Given the description of an element on the screen output the (x, y) to click on. 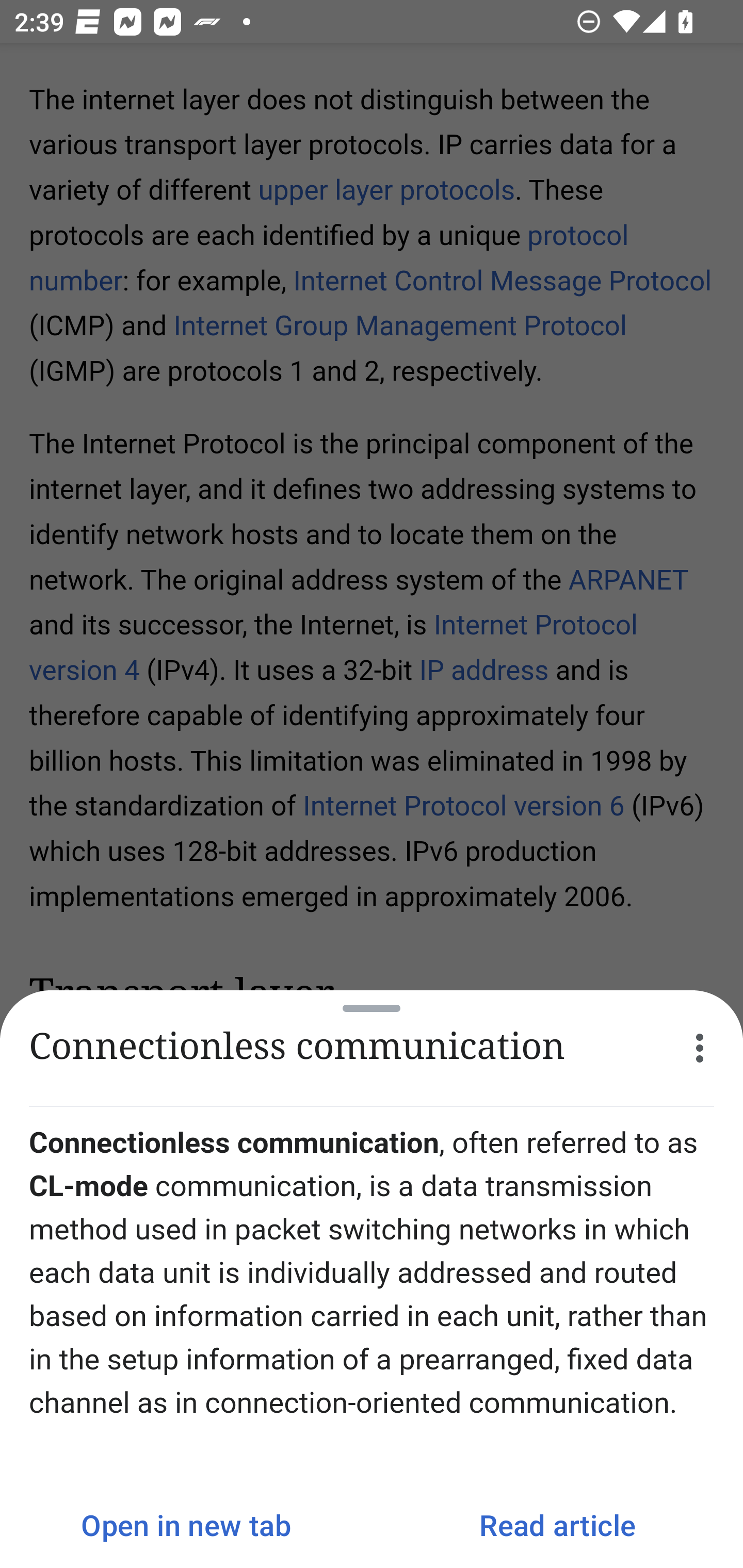
Connectionless communication More options (371, 1047)
More options (699, 1048)
Open in new tab (185, 1524)
Read article (557, 1524)
